Given the description of an element on the screen output the (x, y) to click on. 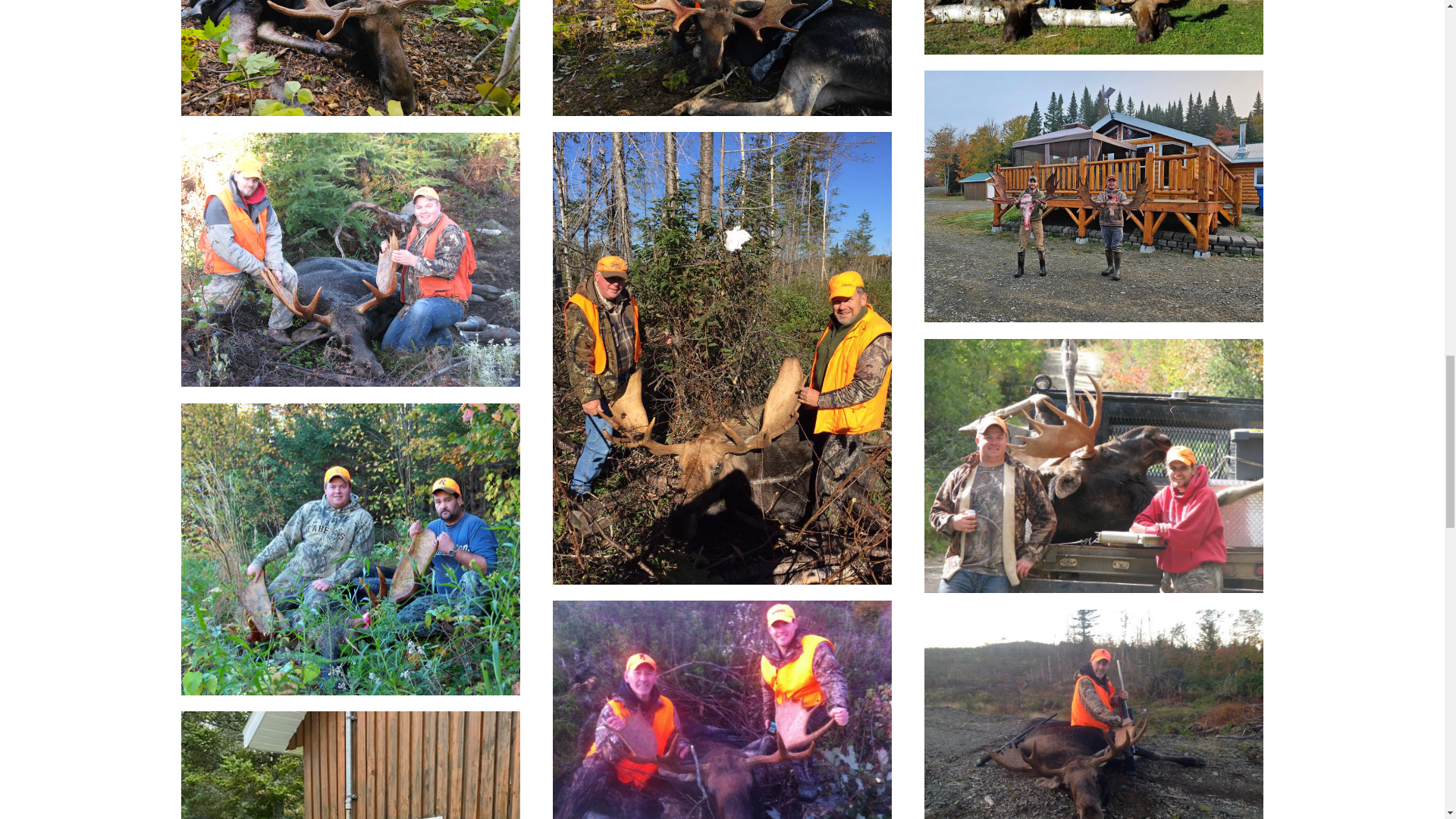
NB MOOSE HUNT (722, 58)
Quad B (1093, 196)
Guided moose hunt new brunswick (349, 58)
